Given the description of an element on the screen output the (x, y) to click on. 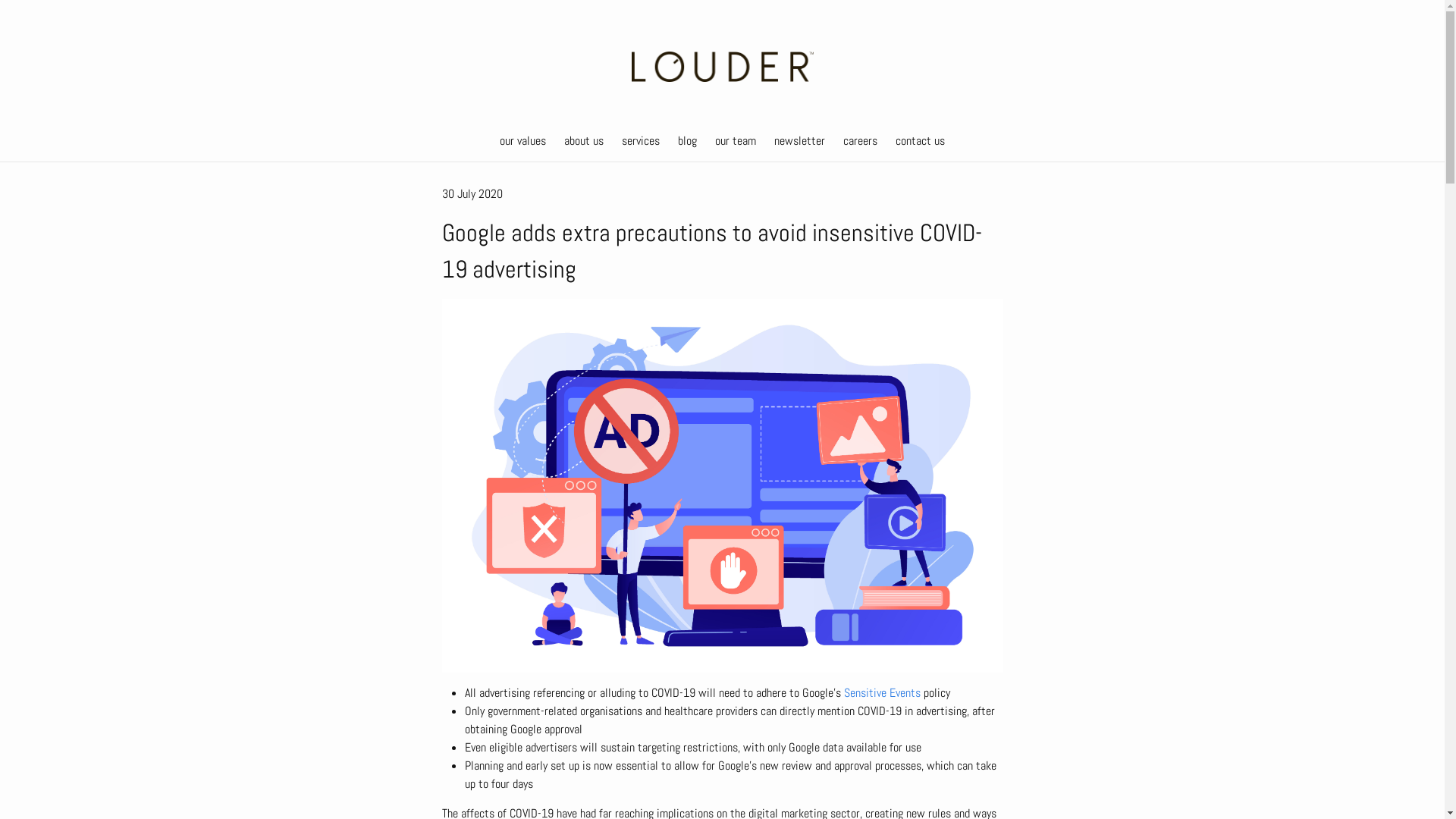
our values Element type: text (522, 140)
blog Element type: text (686, 140)
careers Element type: text (860, 140)
Louder Element type: hover (721, 66)
services Element type: text (640, 140)
contact us Element type: text (919, 140)
our team Element type: text (735, 140)
Sensitive Events Element type: text (881, 692)
newsletter Element type: text (799, 140)
about us Element type: text (583, 140)
